Given the description of an element on the screen output the (x, y) to click on. 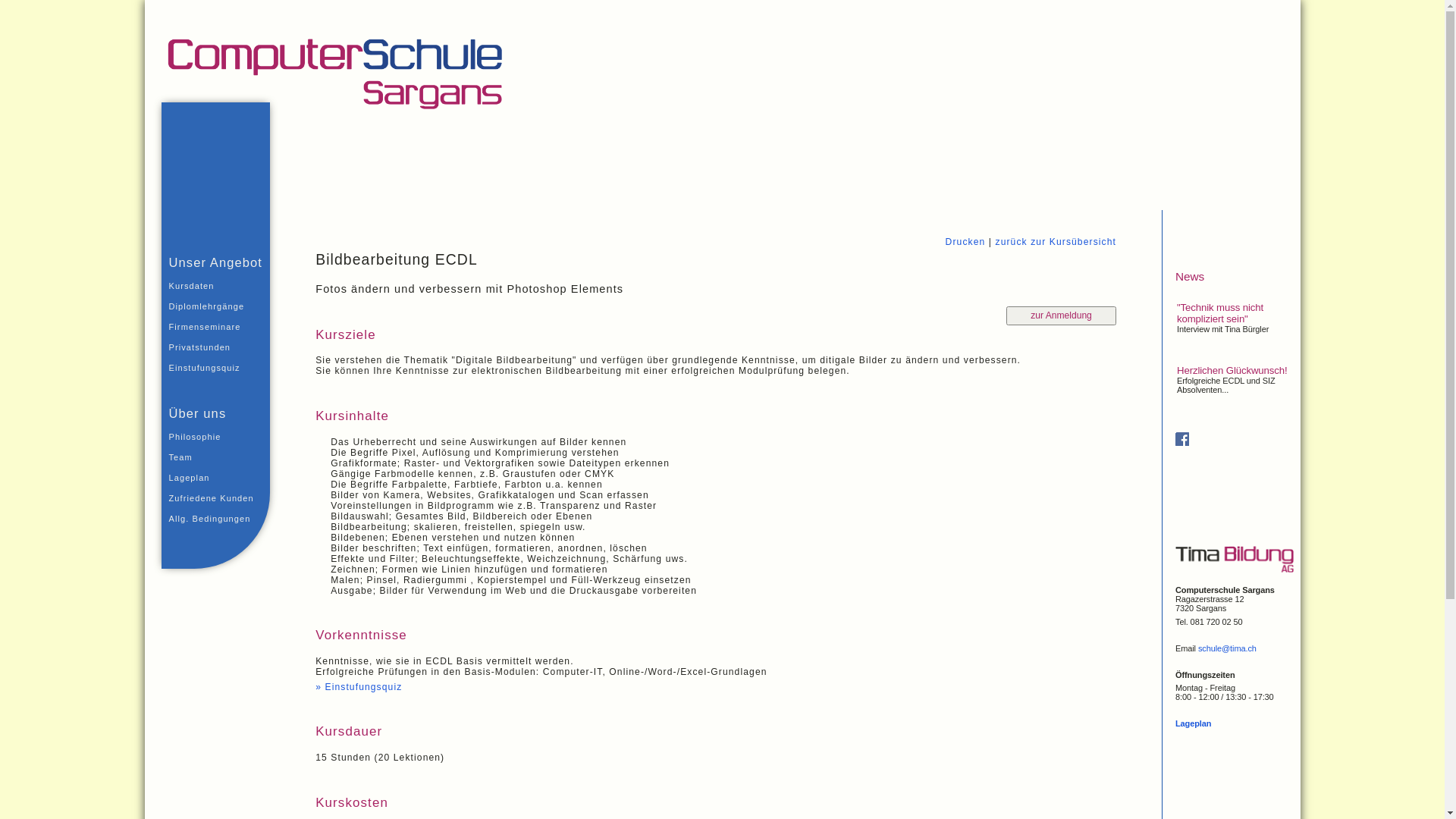
zur Anmeldung Element type: text (1061, 315)
Einstufungsquiz Element type: text (212, 367)
Lageplan Element type: text (212, 477)
schule@tima.ch Element type: text (1227, 647)
Philosophie Element type: text (212, 436)
Privatstunden Element type: text (212, 346)
Kursdaten Element type: text (212, 285)
Support Element type: text (1259, 197)
Unser Angebot Element type: text (213, 262)
Firmenseminare Element type: text (212, 326)
Drucken Element type: text (965, 241)
Team Element type: text (212, 456)
Allg. Bedingungen Element type: text (212, 518)
Zufriedene Kunden Element type: text (212, 497)
Besuchen Sie uns auf facebook Element type: hover (1182, 442)
Home Element type: text (1210, 197)
Lageplan Element type: text (1193, 723)
